Given the description of an element on the screen output the (x, y) to click on. 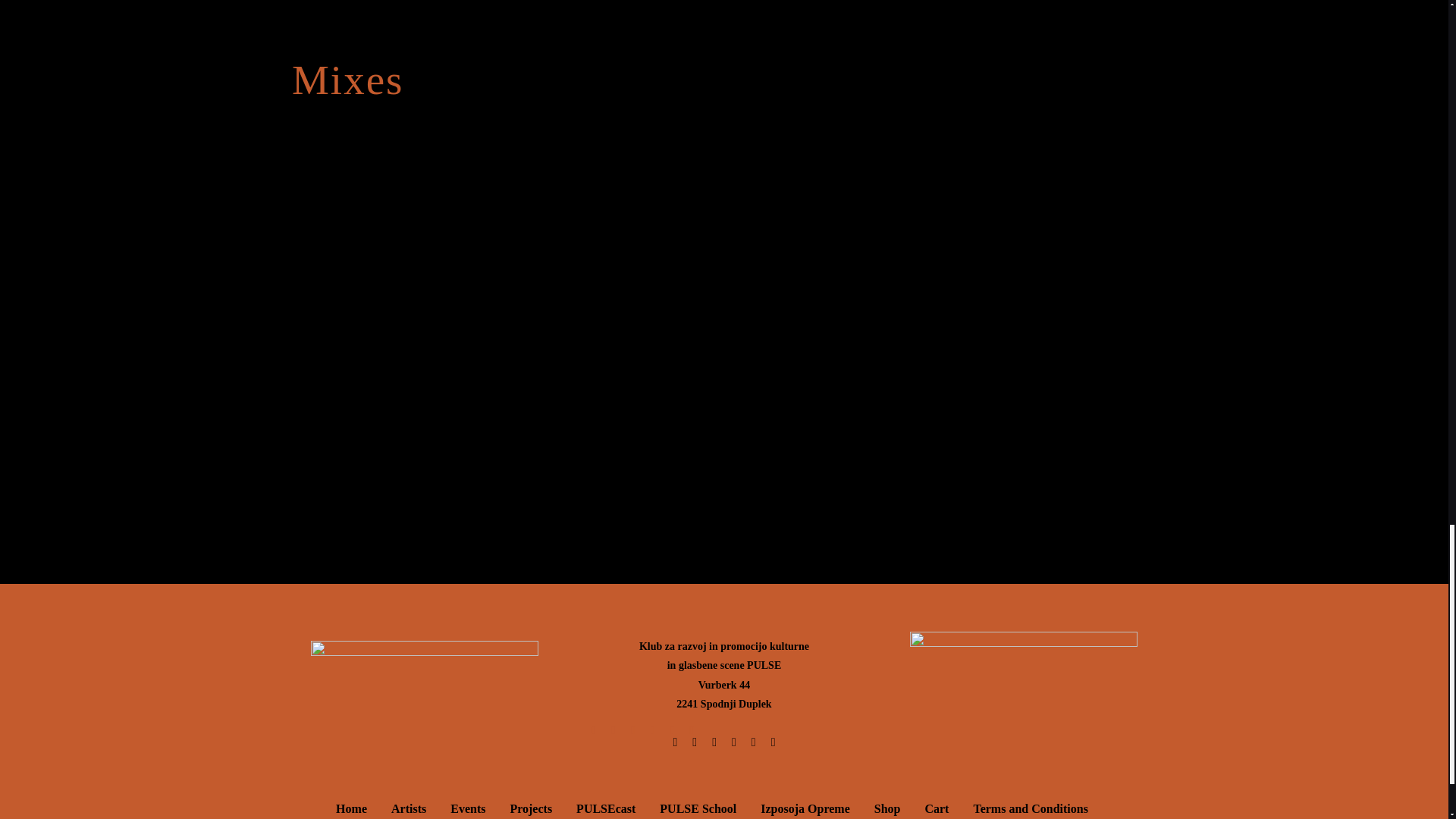
soundcloud (724, 321)
soundcloud (724, 190)
soundcloud (724, 453)
YouTube video player 3 (519, 120)
YouTube video player 4 (968, 120)
